Given the description of an element on the screen output the (x, y) to click on. 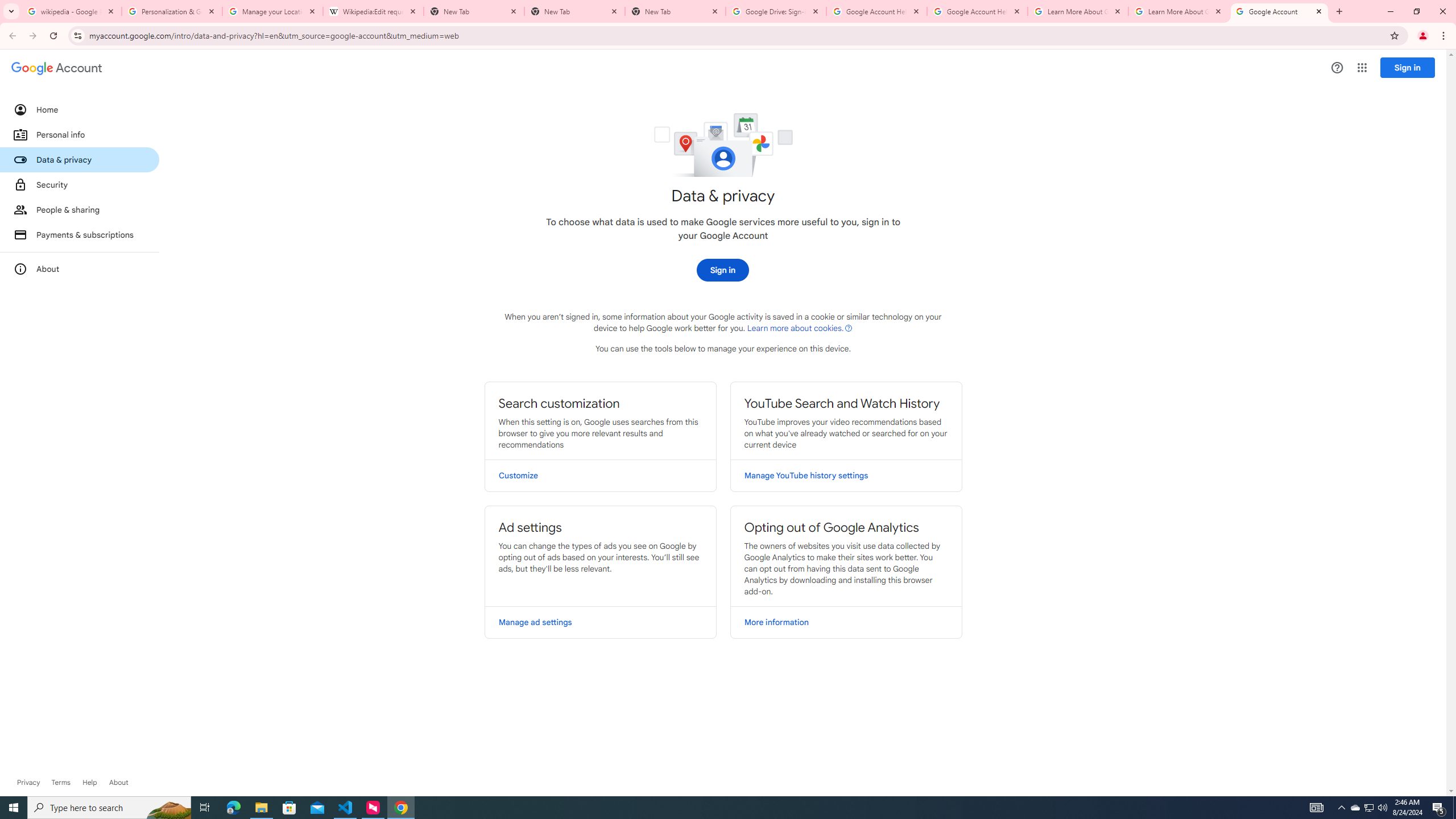
Security (79, 184)
New Tab (574, 11)
Data & privacy (79, 159)
Learn more about cookies (Opens in new tab) (799, 327)
Google Drive: Sign-in (775, 11)
More information (846, 622)
Wikipedia:Edit requests - Wikipedia (373, 11)
Customize (600, 475)
Google Account Help (876, 11)
